Given the description of an element on the screen output the (x, y) to click on. 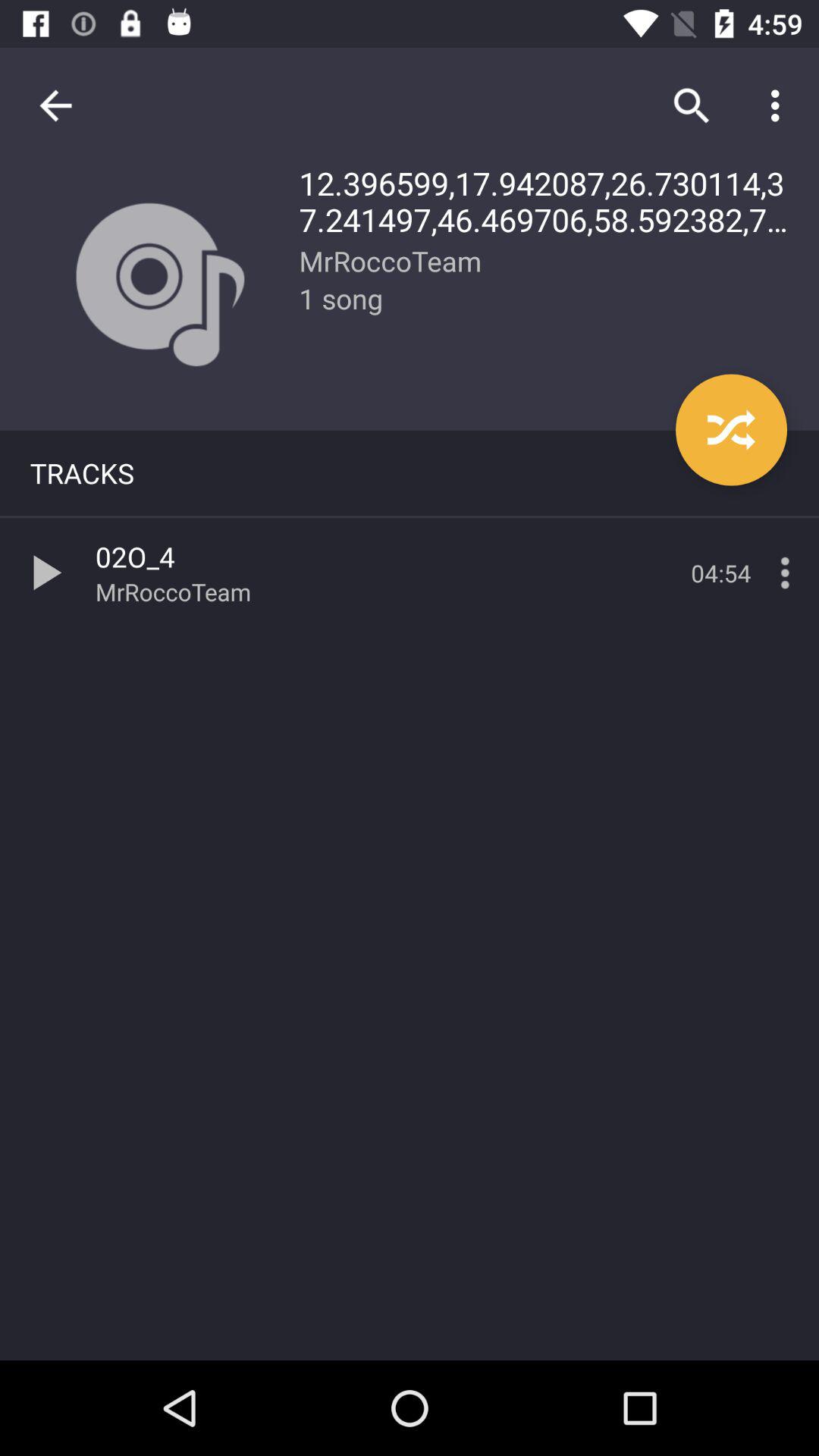
select item to the left of the 12 396599 17 item (55, 105)
